Given the description of an element on the screen output the (x, y) to click on. 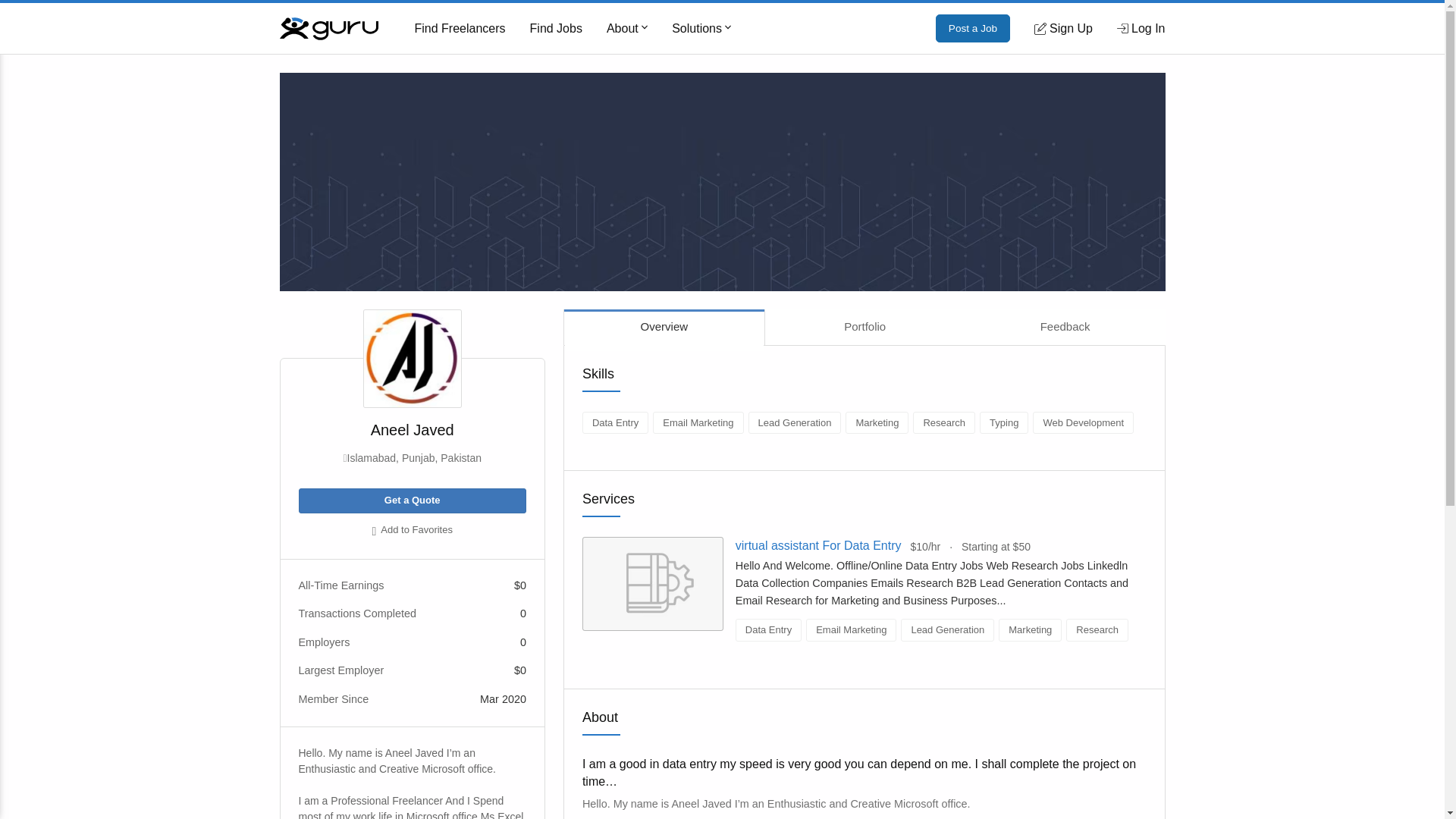
Get a Quote (411, 500)
Add to Favorites (411, 531)
Find Freelancers (459, 28)
Find a Freelancer (459, 28)
Log In (1140, 28)
Post a Job (973, 28)
Sign Up (1063, 28)
Find a Job (555, 28)
Post a Job (973, 28)
Find Jobs (555, 28)
